Given the description of an element on the screen output the (x, y) to click on. 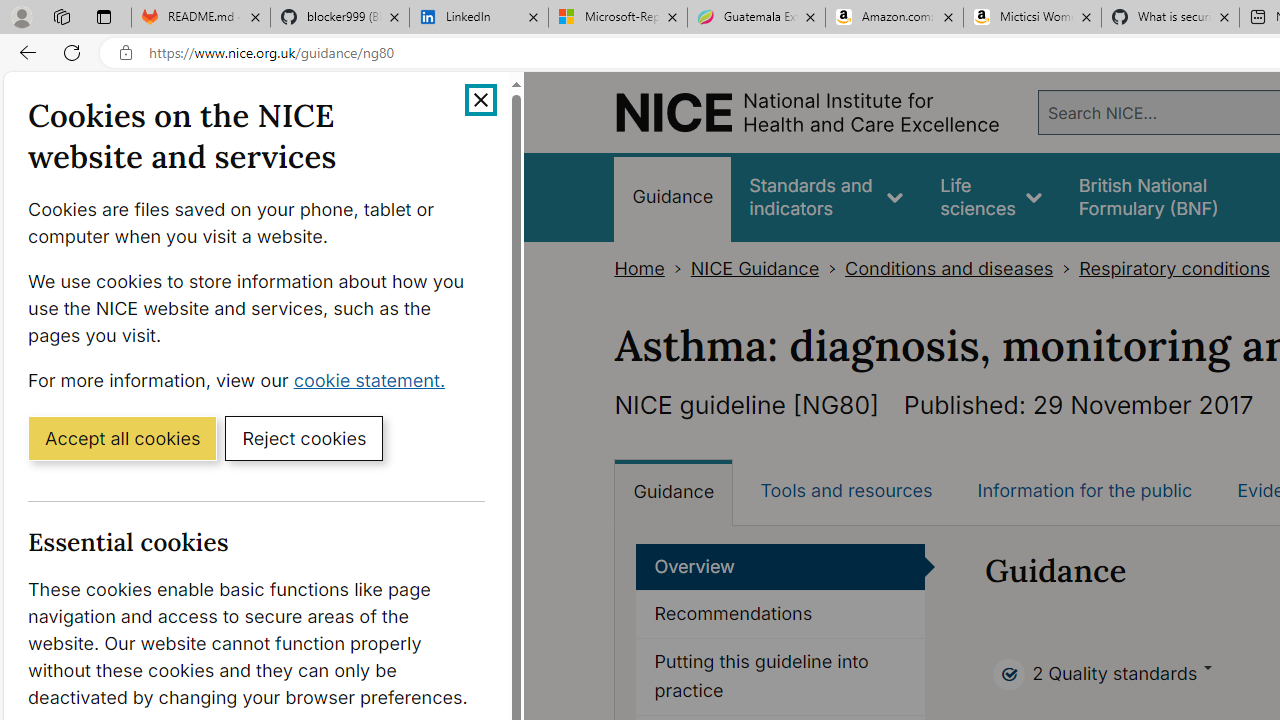
NICE Guidance> (767, 268)
Overview (780, 566)
Tools and resources (846, 490)
Putting this guideline into practice (780, 676)
Recommendations (780, 615)
Putting this guideline into practice (781, 676)
